Given the description of an element on the screen output the (x, y) to click on. 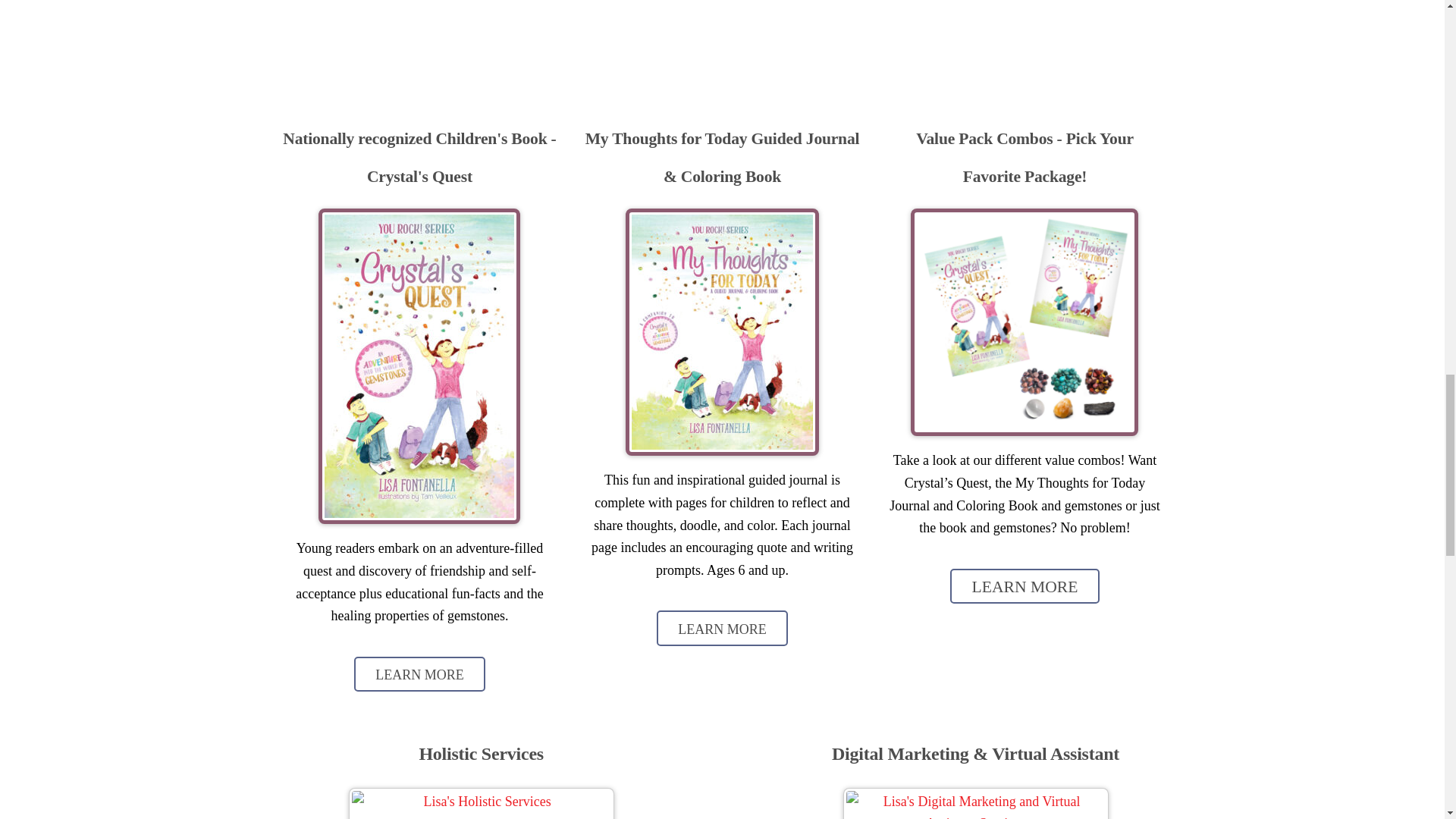
LEARN MORE (1024, 585)
LEARN MORE (721, 627)
LEARN MORE (418, 673)
